Given the description of an element on the screen output the (x, y) to click on. 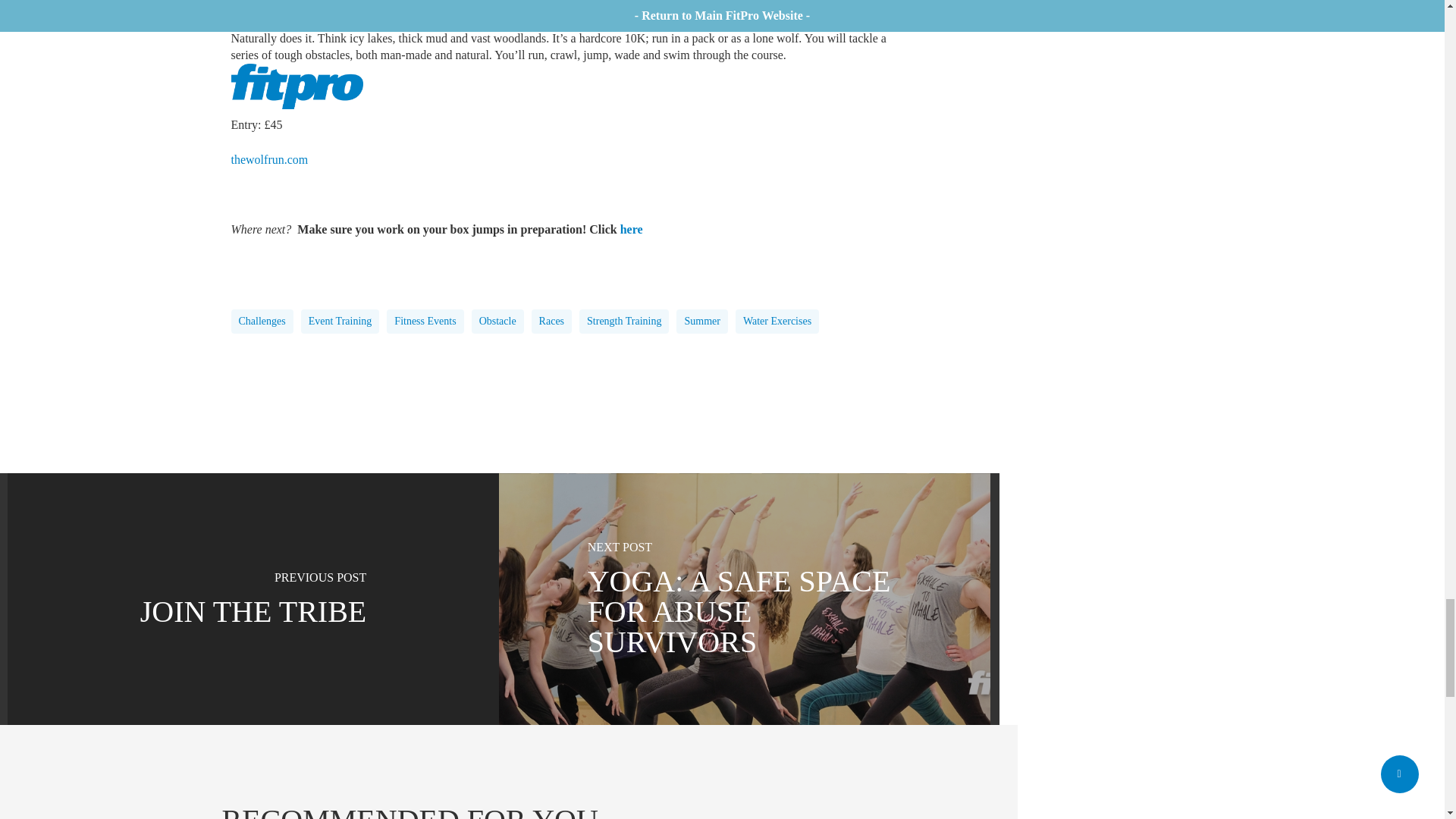
Challenges (261, 321)
Strength Training (623, 321)
Water Exercises (776, 321)
Fitness Events (425, 321)
here (631, 228)
Obstacle (497, 321)
thewolfrun.com (268, 159)
Event Training (340, 321)
Summer (701, 321)
Races (551, 321)
